Given the description of an element on the screen output the (x, y) to click on. 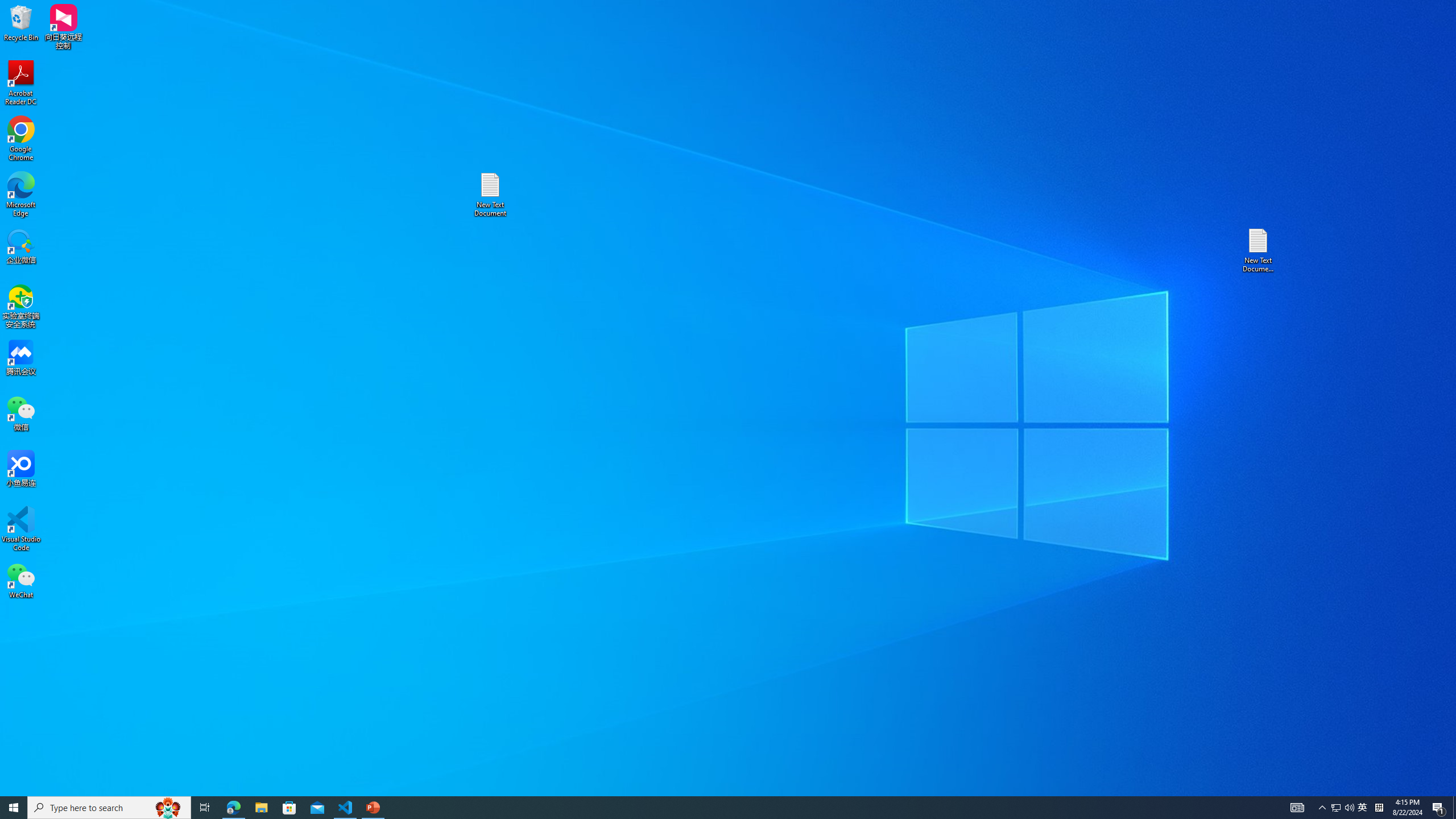
WordArt (570, 58)
Video (745, 58)
